Given the description of an element on the screen output the (x, y) to click on. 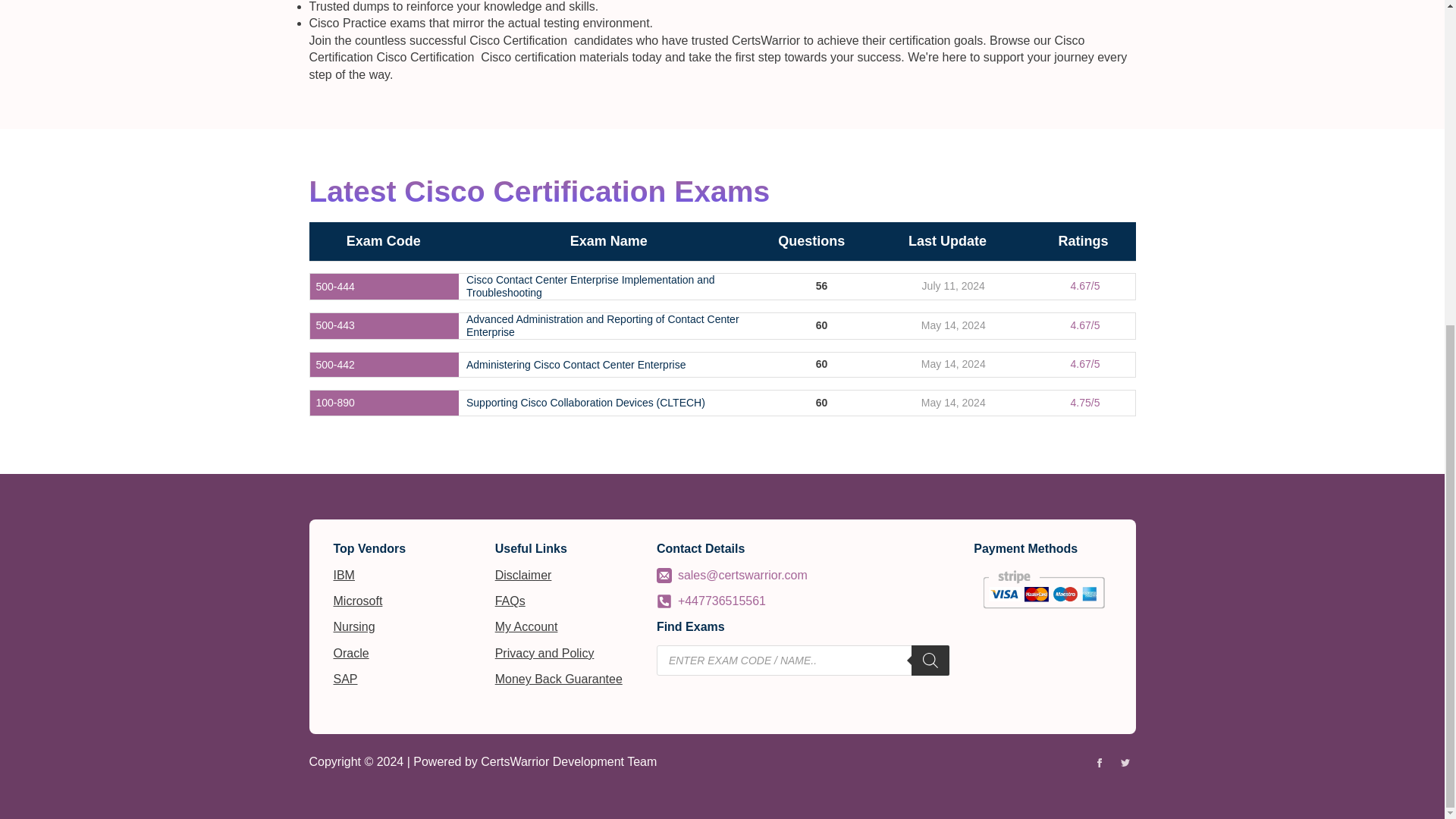
500-442 (334, 364)
Administering Cisco Contact Center Enterprise (575, 364)
100-890 (334, 402)
500-443 (334, 325)
500-444 (334, 286)
Exam Code (383, 241)
